Given the description of an element on the screen output the (x, y) to click on. 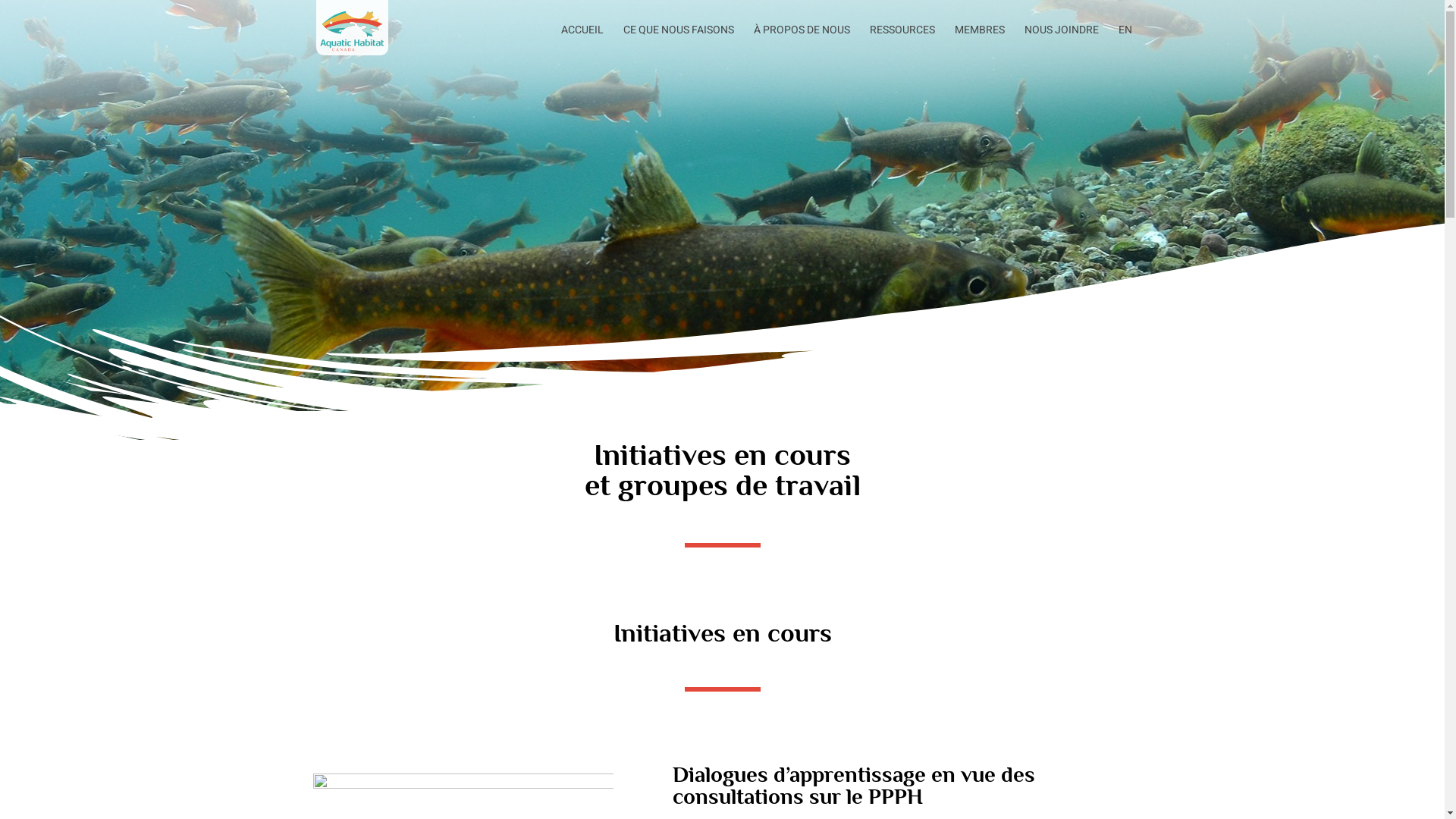
RESSOURCES Element type: text (901, 36)
EN Element type: text (1124, 36)
MEMBRES Element type: text (978, 36)
NOUS JOINDRE Element type: text (1060, 36)
ACCUEIL Element type: text (582, 36)
CE QUE NOUS FAISONS Element type: text (678, 36)
